Given the description of an element on the screen output the (x, y) to click on. 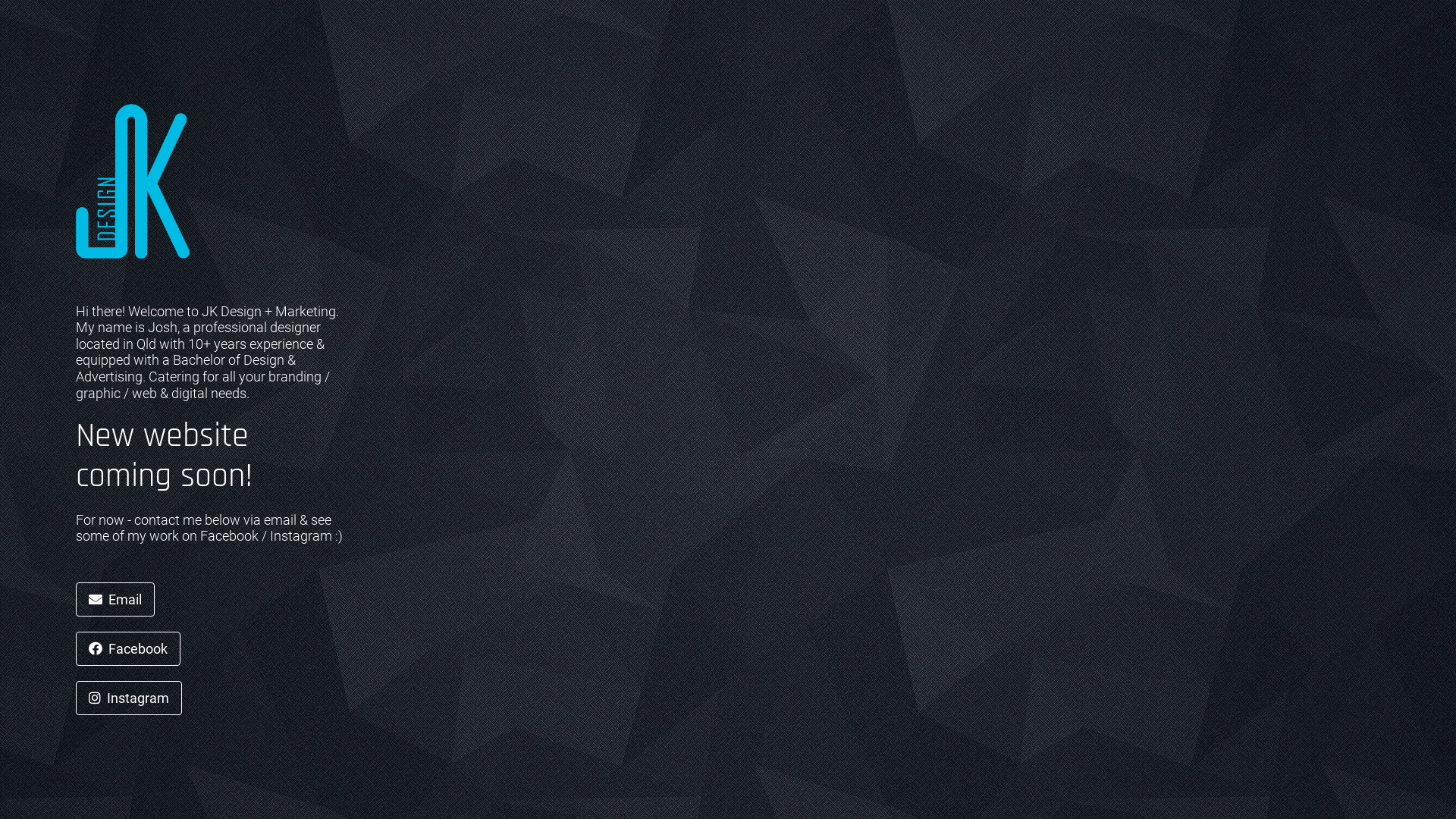
Email Element type: text (114, 599)
Facebook Element type: text (127, 648)
Instagram Element type: text (128, 697)
